Given the description of an element on the screen output the (x, y) to click on. 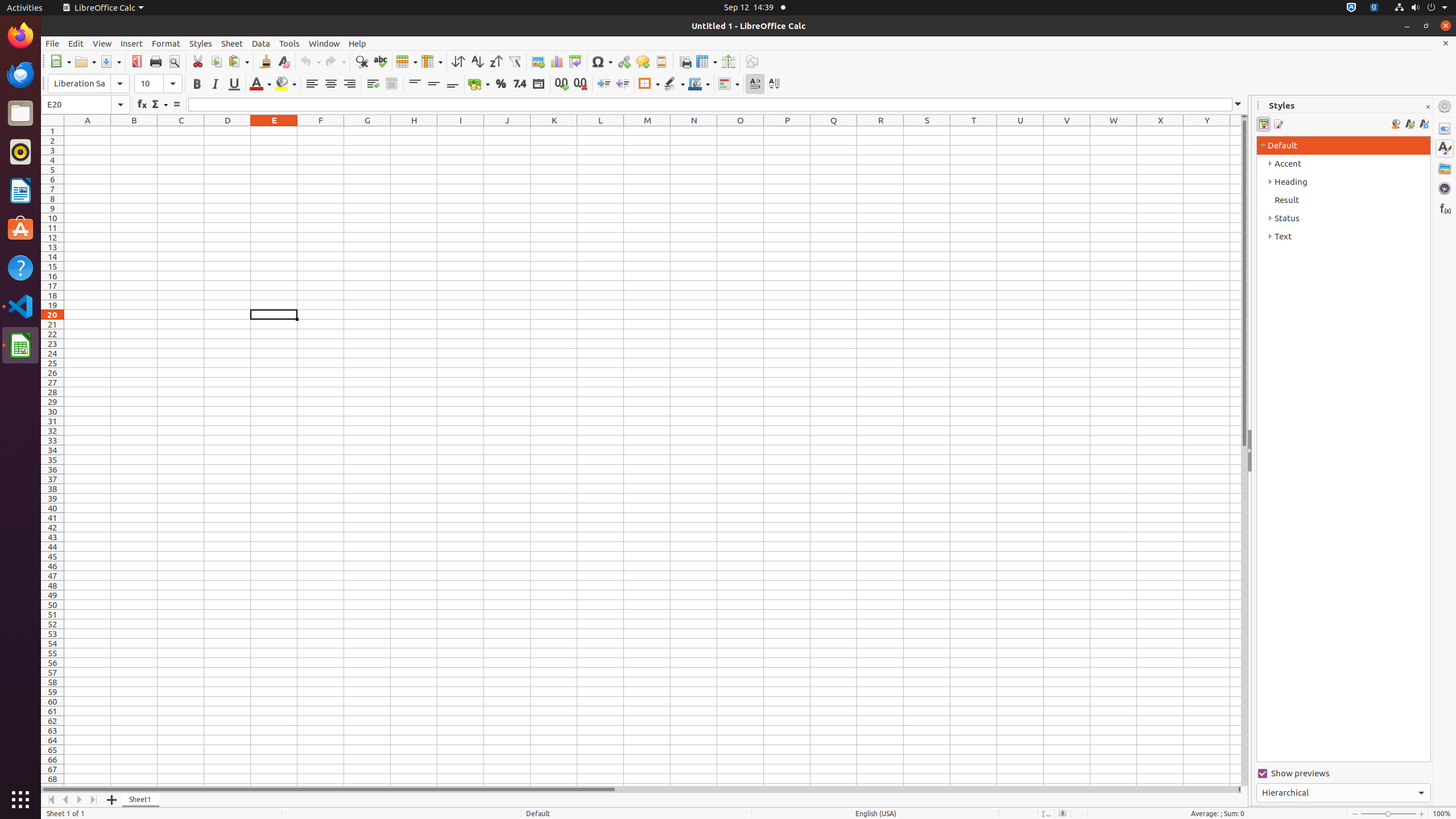
Font Name Element type: combo-box (88, 83)
M1 Element type: table-cell (646, 130)
Align Center Element type: push-button (330, 83)
S1 Element type: table-cell (926, 130)
Show Applications Element type: toggle-button (20, 799)
